Given the description of an element on the screen output the (x, y) to click on. 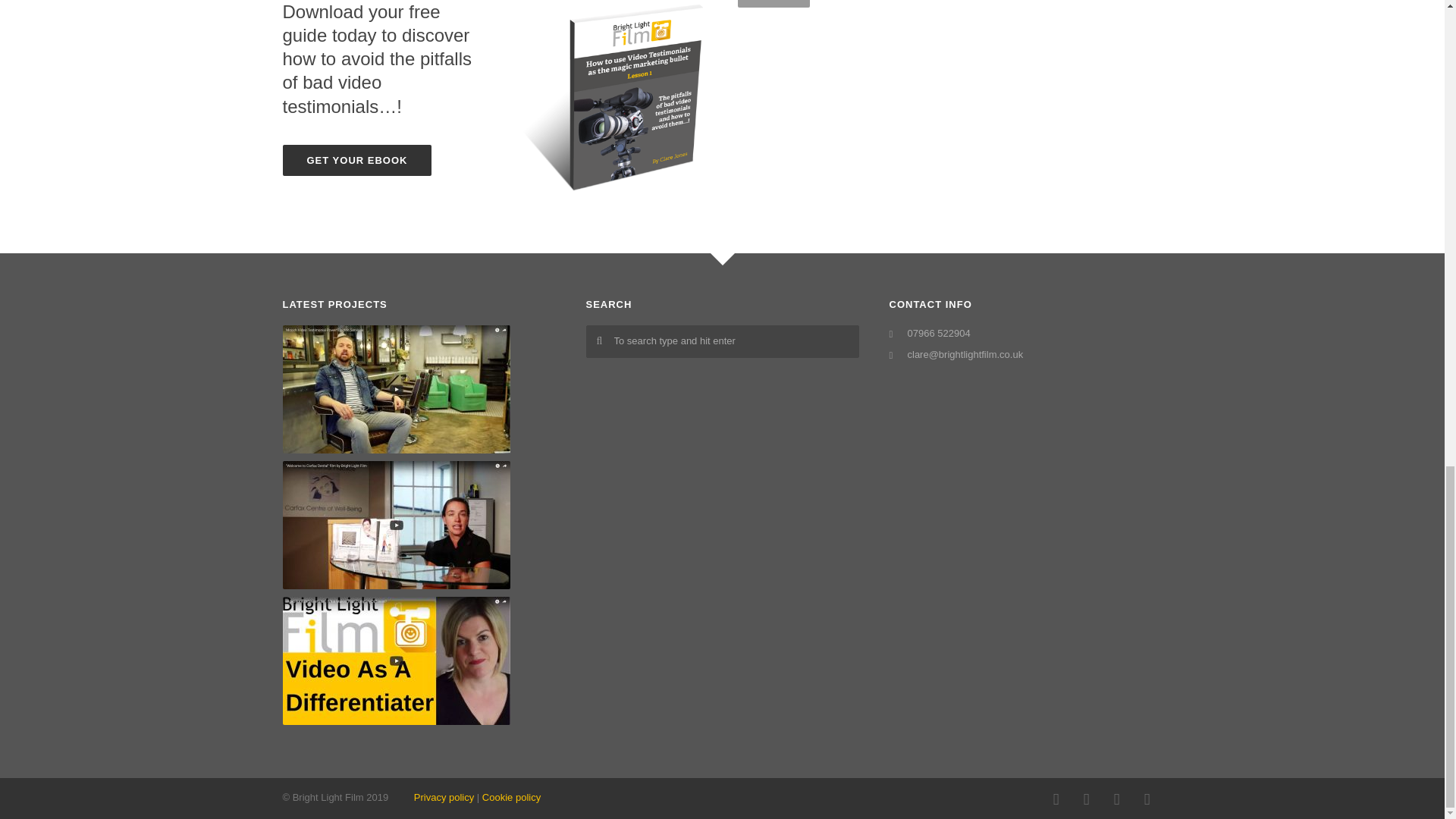
Twitter (1115, 798)
Submit (772, 3)
LinkedIn (1085, 798)
To search type and hit enter (722, 341)
YouTube (1146, 798)
Facebook (1055, 798)
